Given the description of an element on the screen output the (x, y) to click on. 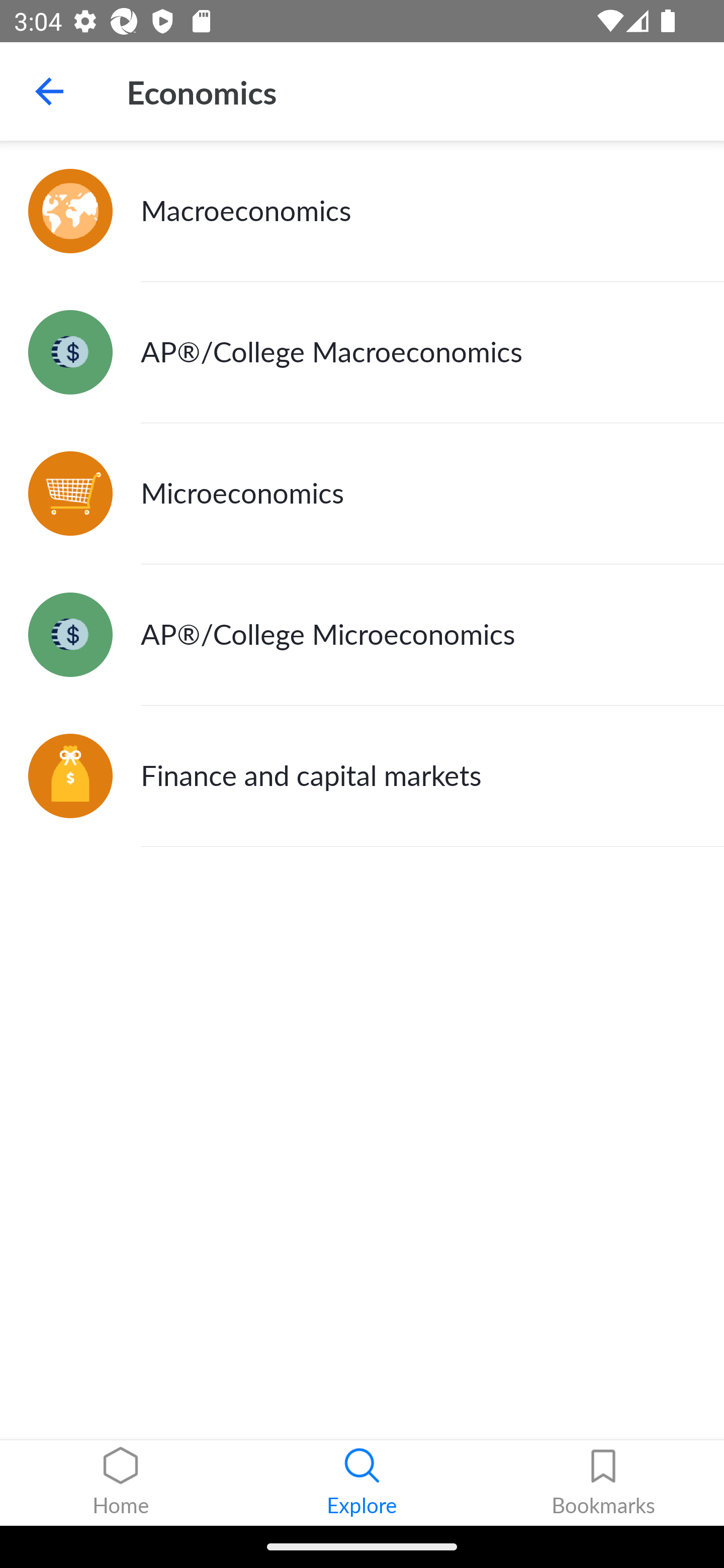
Navigate up (49, 91)
Macroeconomics (362, 211)
AP®︎/College Macroeconomics (362, 352)
Microeconomics (362, 493)
AP®︎/College Microeconomics (362, 634)
Finance and capital markets (362, 775)
Home (120, 1482)
Explore (361, 1482)
Bookmarks (603, 1482)
